Given the description of an element on the screen output the (x, y) to click on. 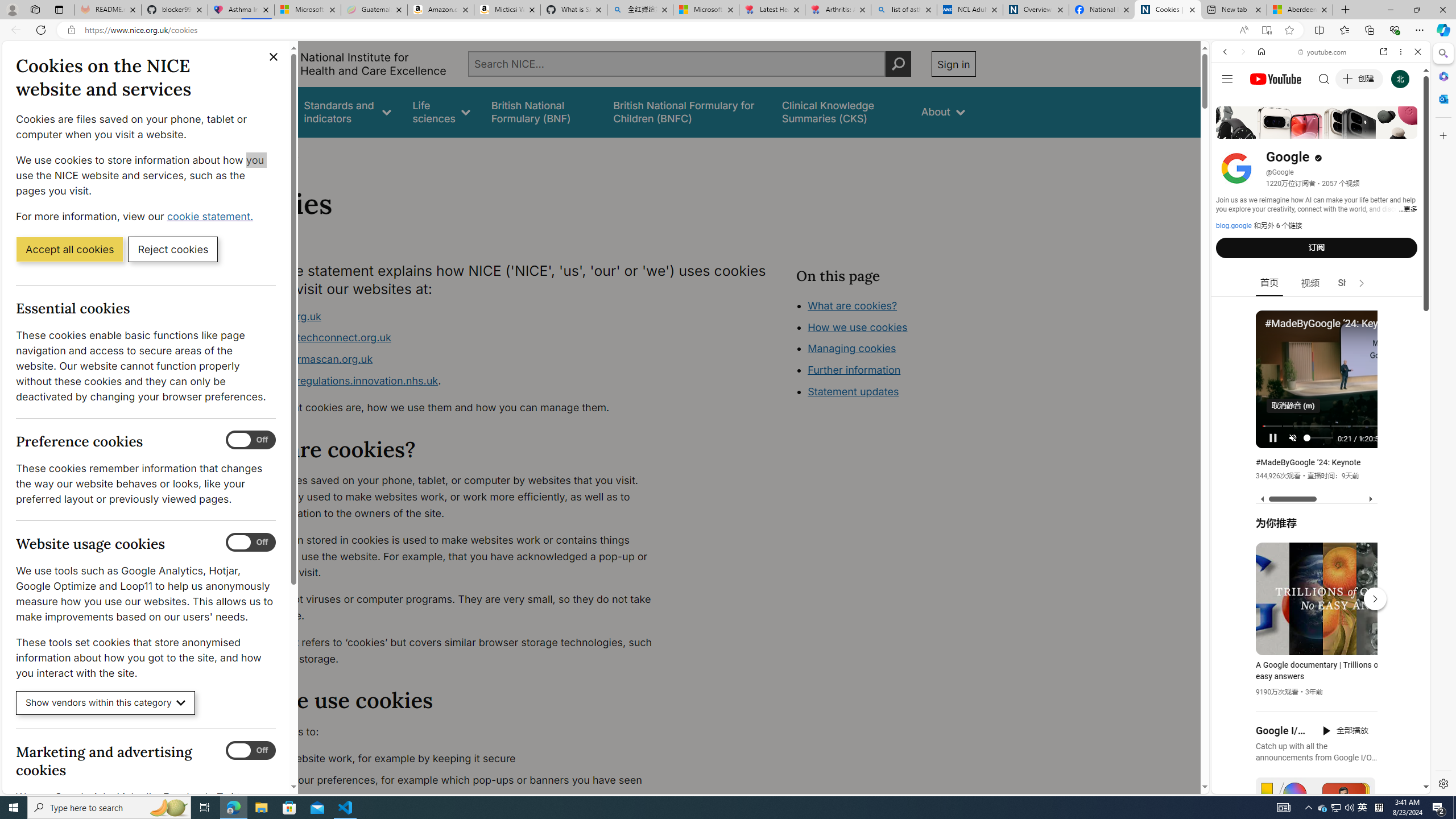
British National Formulary for Children (BNFC) (686, 111)
www.nice.org.uk (452, 316)
Microsoft 365 (1442, 76)
Preferences (1403, 129)
false (841, 111)
About (283, 152)
Trailer #2 [HD] (1320, 336)
Marketing and advertising cookies (250, 750)
Microsoft-Report a Concern to Bing (307, 9)
Search videos from youtube.com (1299, 373)
